Given the description of an element on the screen output the (x, y) to click on. 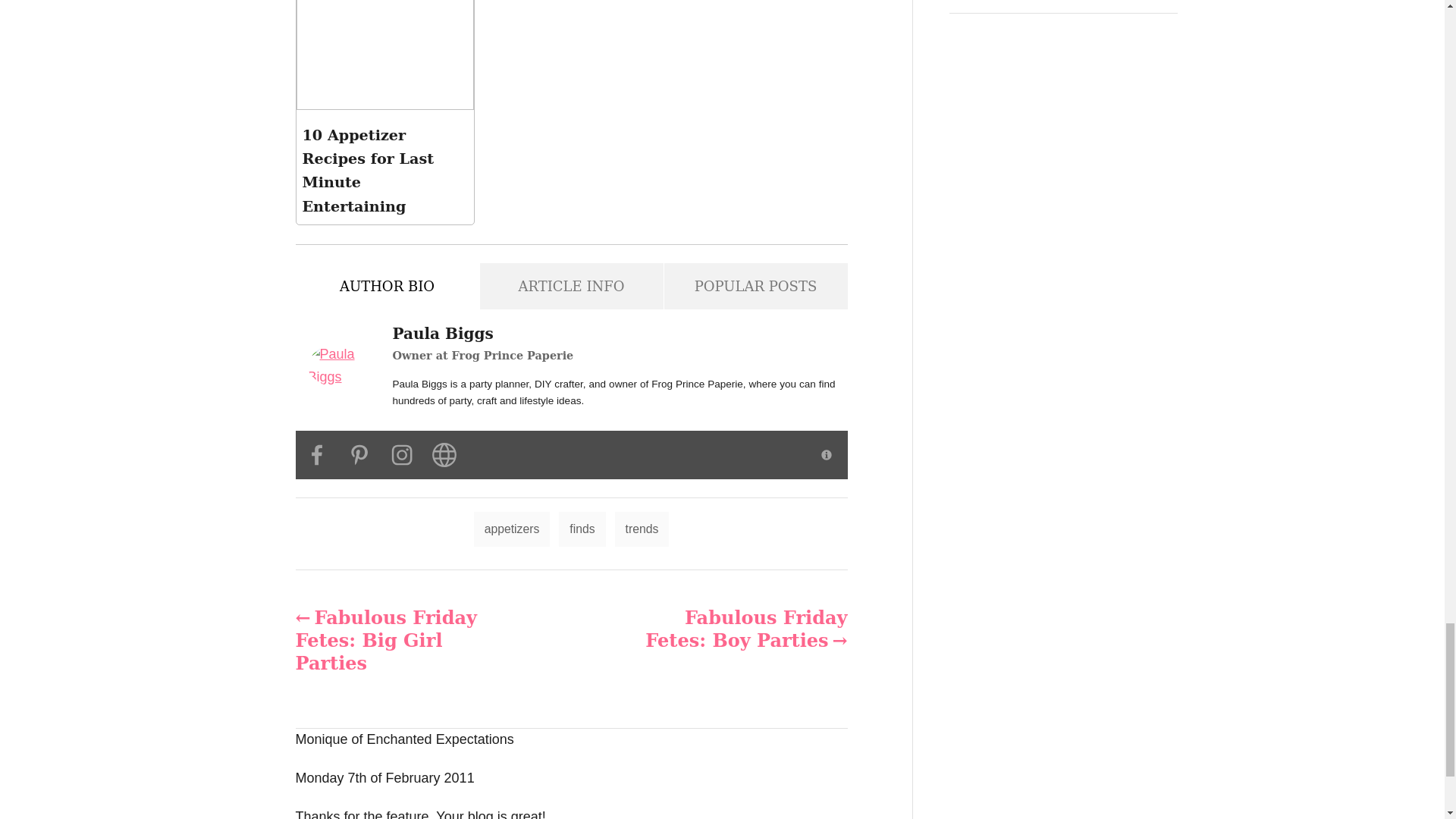
ARTICLE INFO (570, 285)
POPULAR POSTS (755, 285)
Paula Biggs (343, 365)
AUTHOR BIO (387, 285)
